Given the description of an element on the screen output the (x, y) to click on. 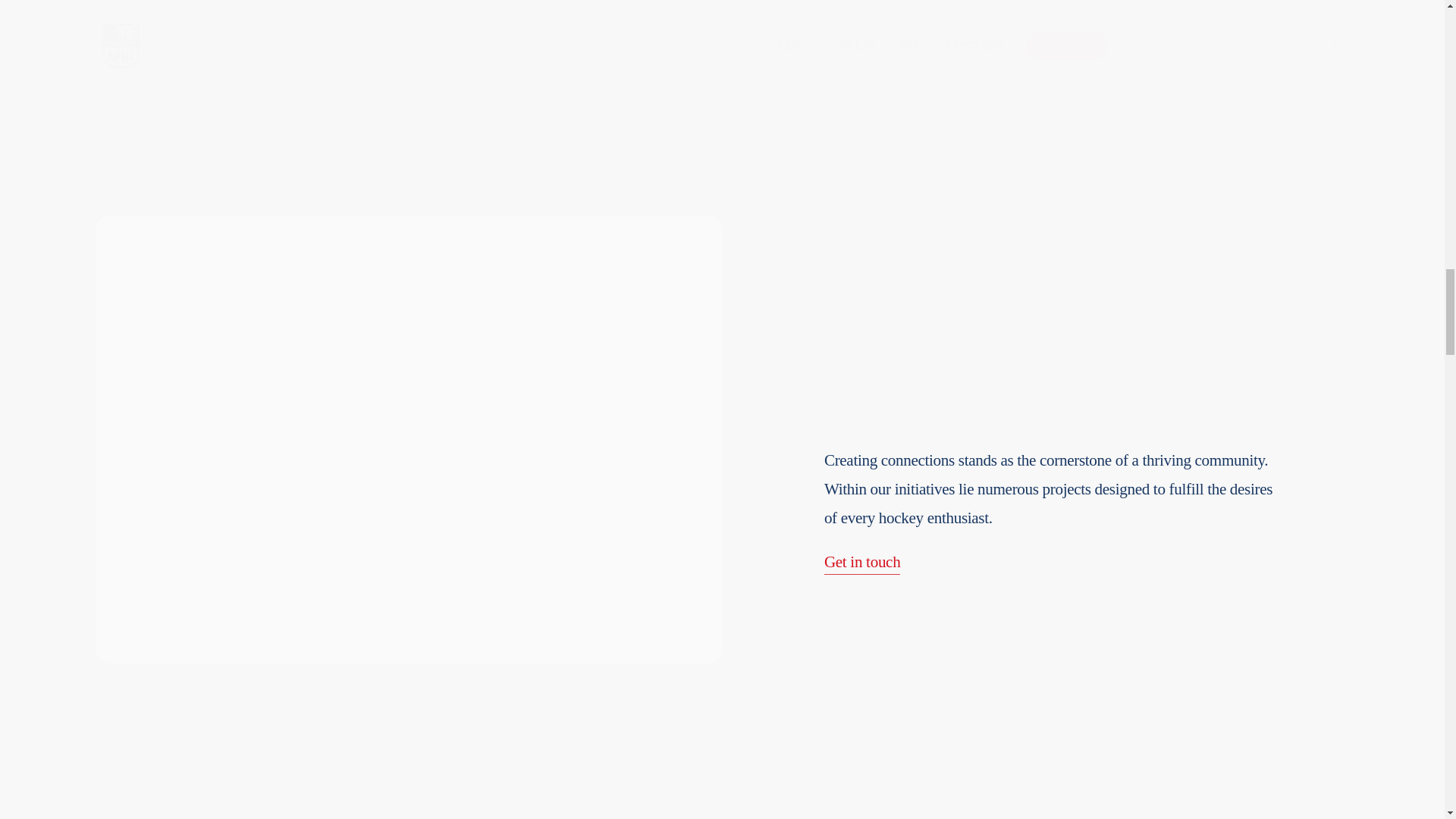
Get in touch (862, 562)
